Given the description of an element on the screen output the (x, y) to click on. 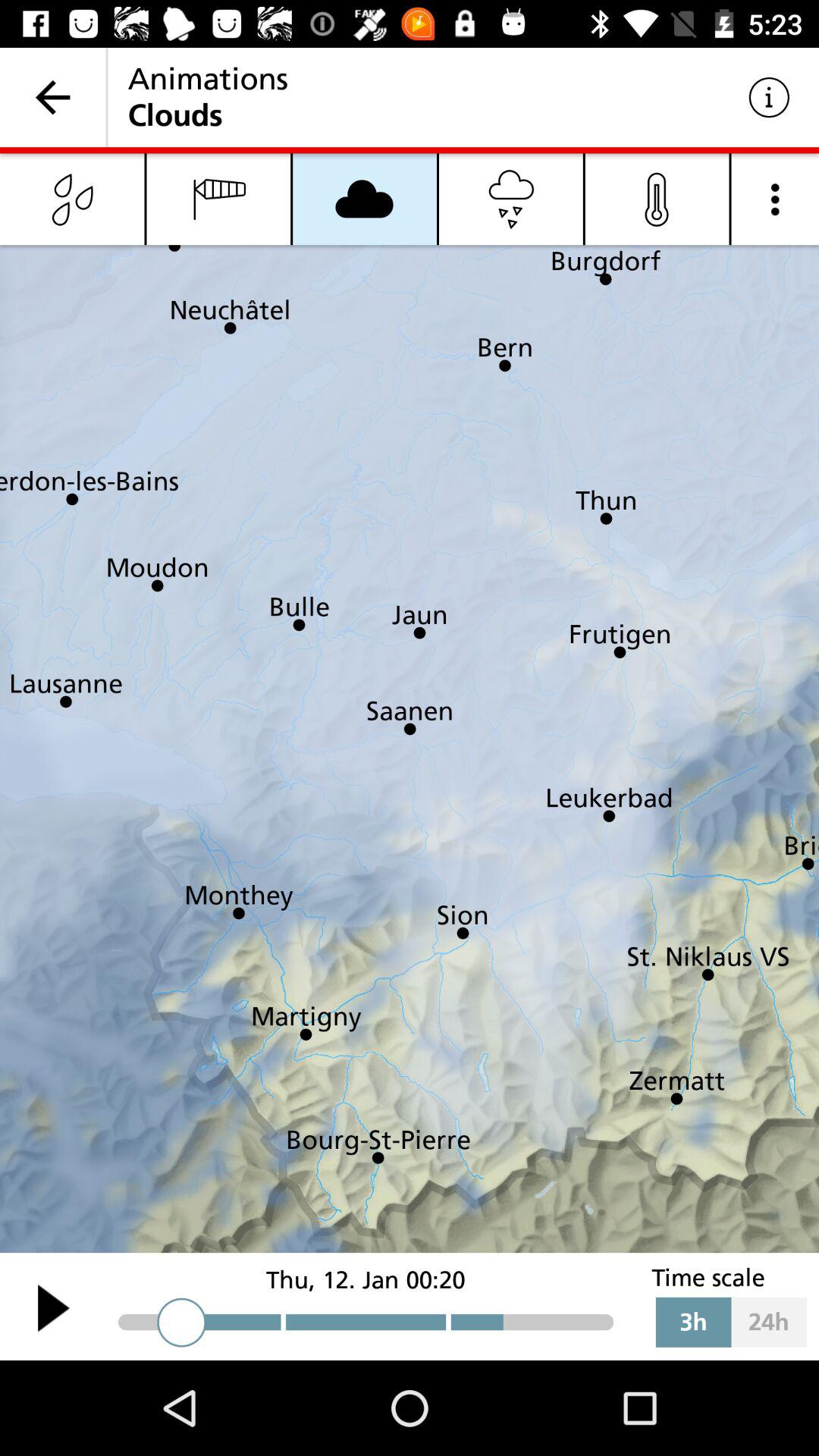
click the item next to the animations (52, 97)
